Given the description of an element on the screen output the (x, y) to click on. 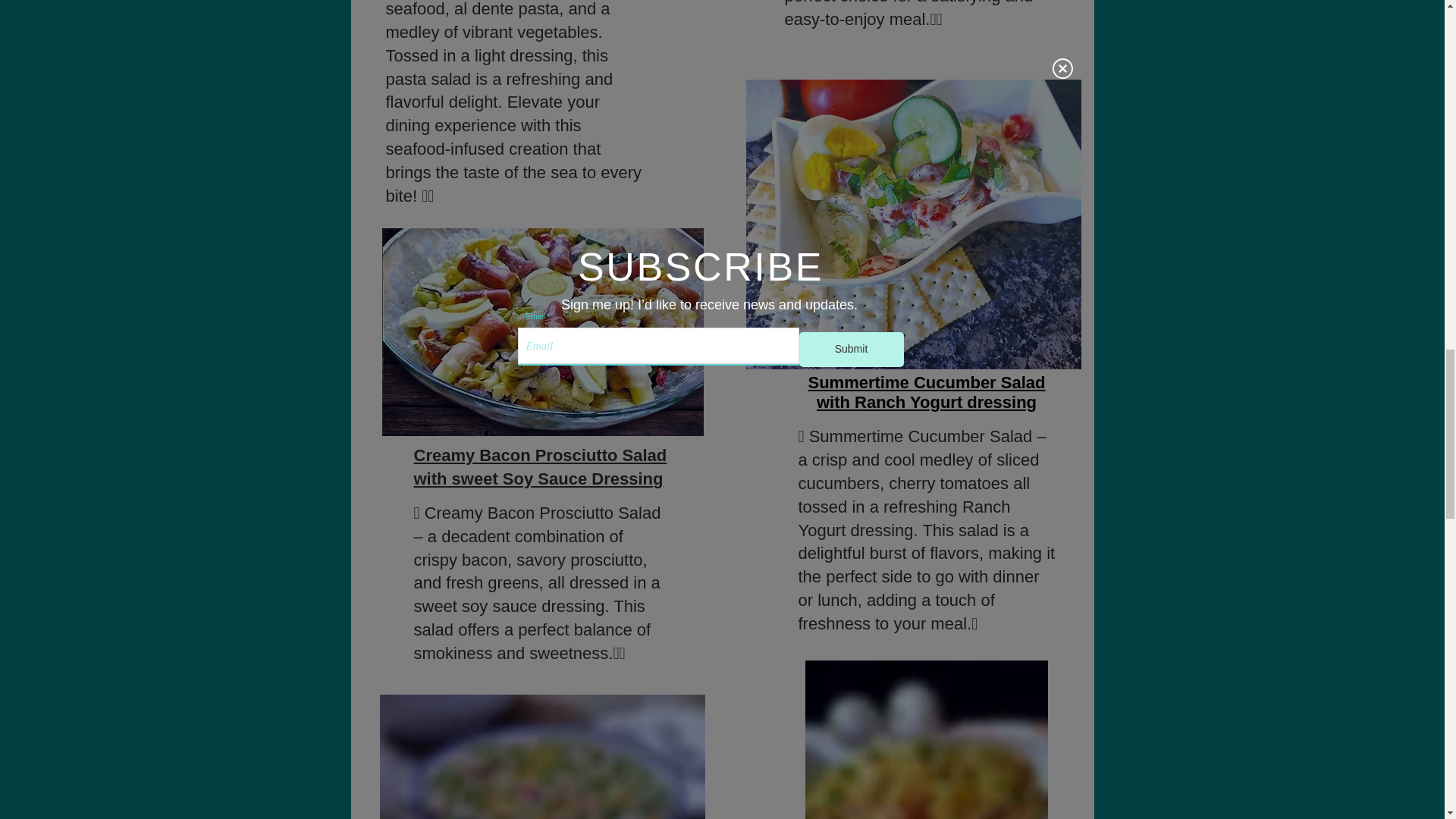
Bacon  Prosciutto Salad  with sweet Soy  Sauce Dressing (542, 331)
Easy Pea Salad (541, 756)
Southern Potato Salad (926, 739)
with sweet Soy Sauce Dressing (538, 478)
Cucumber, Tomato, Onion Salad (913, 224)
Creamy Bacon Prosciutto Salad (539, 455)
Summertime Cucumber Salad with Ranch Yogurt dressing (926, 392)
